Given the description of an element on the screen output the (x, y) to click on. 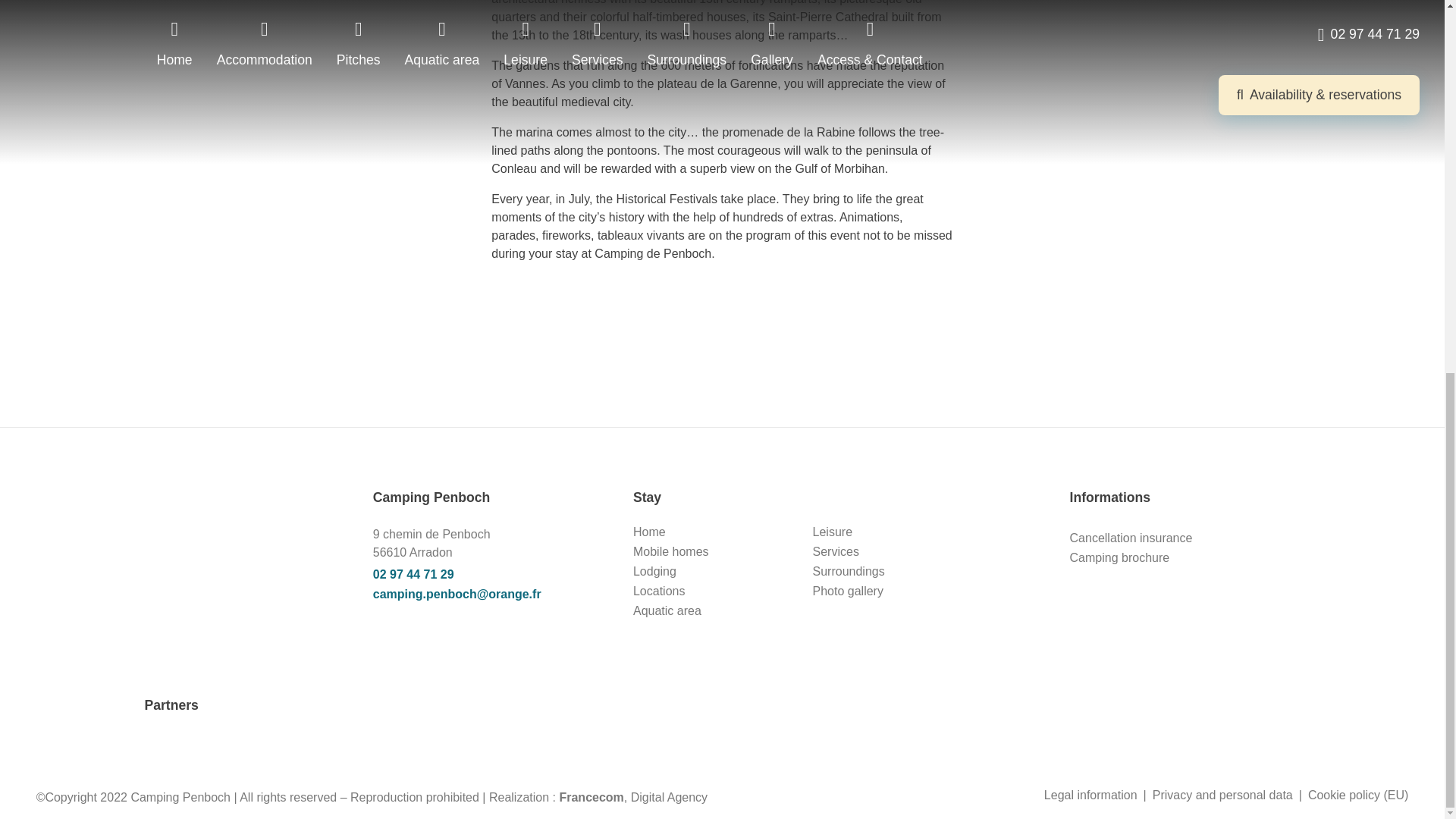
Services (835, 551)
Locations (659, 590)
Cancellation insurance (1131, 537)
Lodging (655, 571)
Photo gallery (847, 590)
Aquatic area (667, 610)
Home (649, 531)
Surroundings (848, 571)
Leisure (831, 531)
02 97 44 71 29 (488, 574)
Mobile homes (671, 551)
Camping brochure (1120, 557)
